Given the description of an element on the screen output the (x, y) to click on. 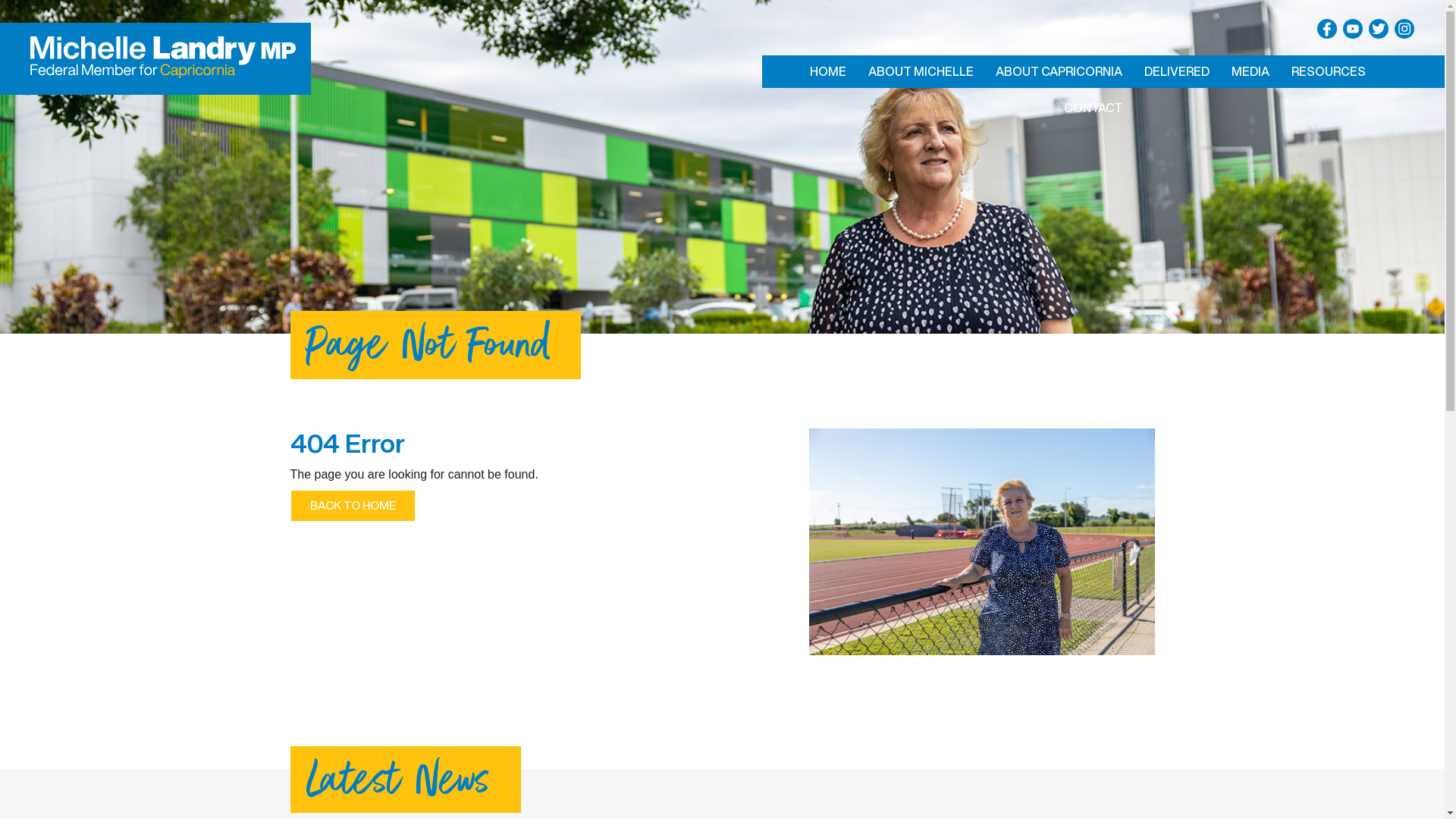
RESOURCES Element type: text (1328, 71)
ABOUT CAPRICORNIA Element type: text (1058, 71)
HOME Element type: text (827, 71)
ABOUT MICHELLE Element type: text (920, 71)
BACK TO HOME Element type: text (351, 505)
CONTACT Element type: text (1093, 107)
DELIVERED Element type: text (1176, 71)
MEDIA Element type: text (1249, 71)
